Given the description of an element on the screen output the (x, y) to click on. 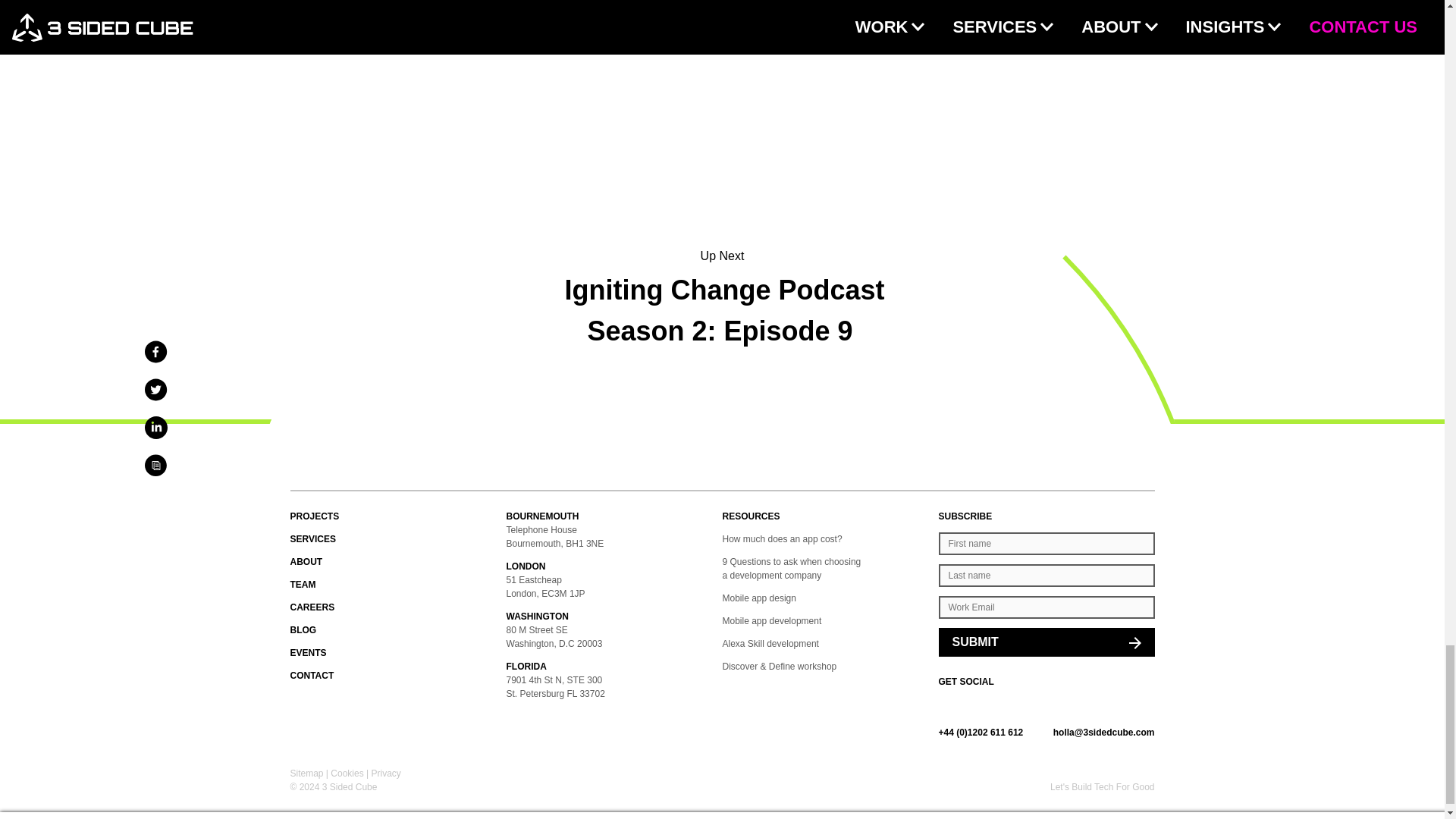
Submit (1046, 642)
Mobile App Development Washington (614, 616)
Mobile App Development Bournemouth (614, 516)
Mobile App Development London (614, 566)
